Given the description of an element on the screen output the (x, y) to click on. 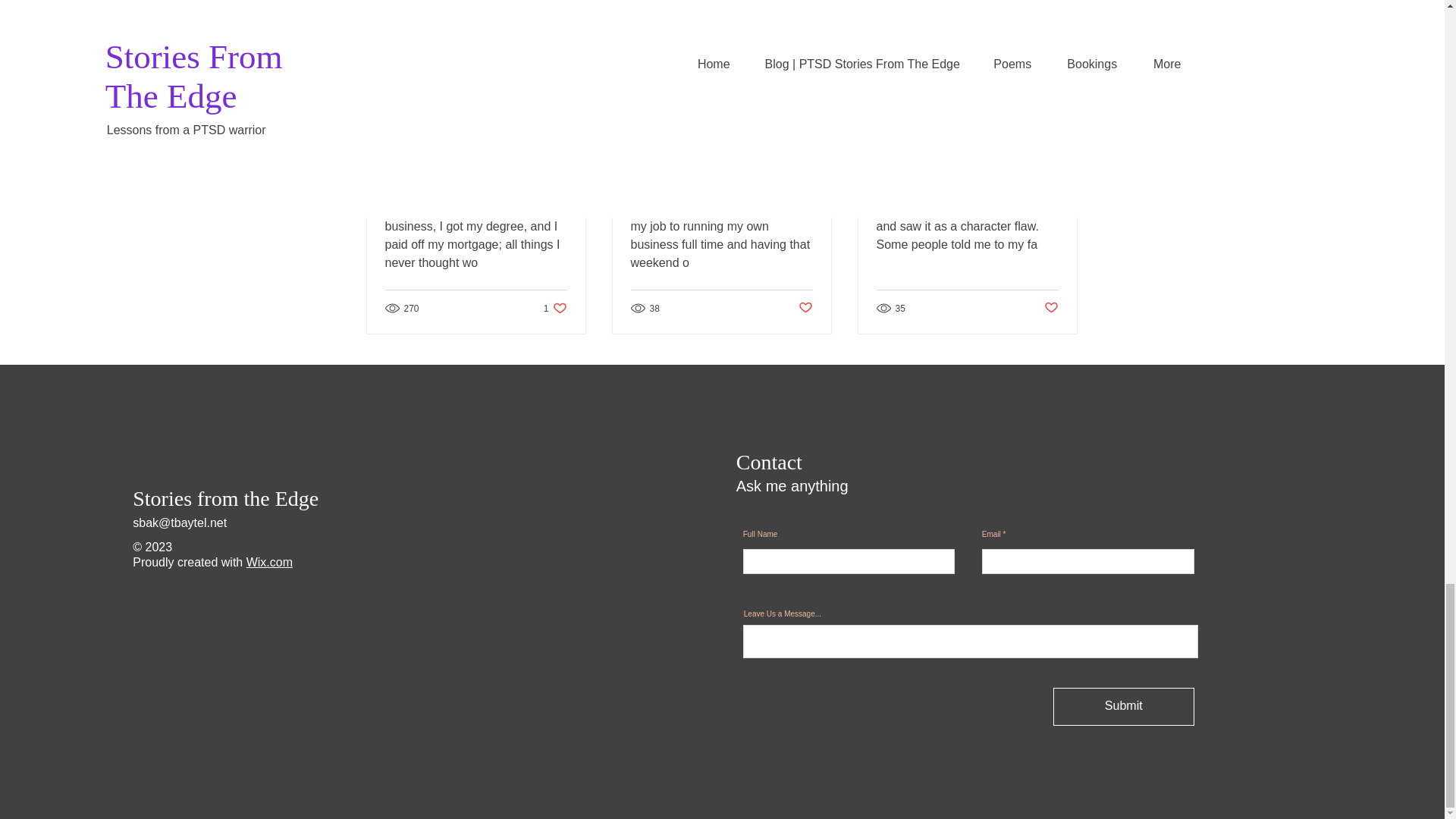
Flaw or Gift? (967, 124)
See All (1061, 71)
Wix.com (269, 562)
Submit (1122, 706)
Caring (721, 124)
Death of a Dream (555, 308)
Post not marked as liked (476, 124)
Post not marked as liked (804, 308)
